Given the description of an element on the screen output the (x, y) to click on. 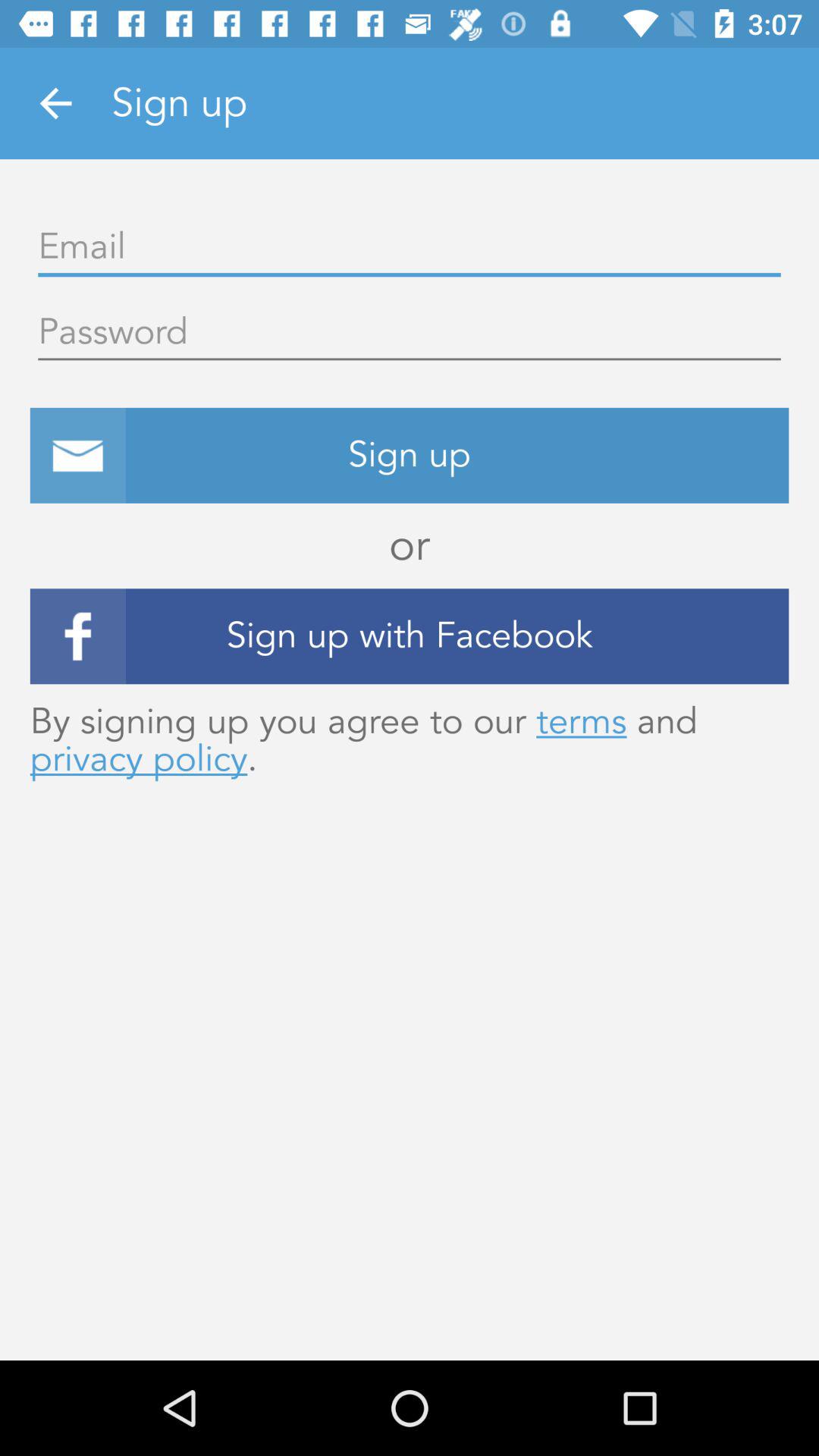
launch item above the sign up (409, 332)
